Given the description of an element on the screen output the (x, y) to click on. 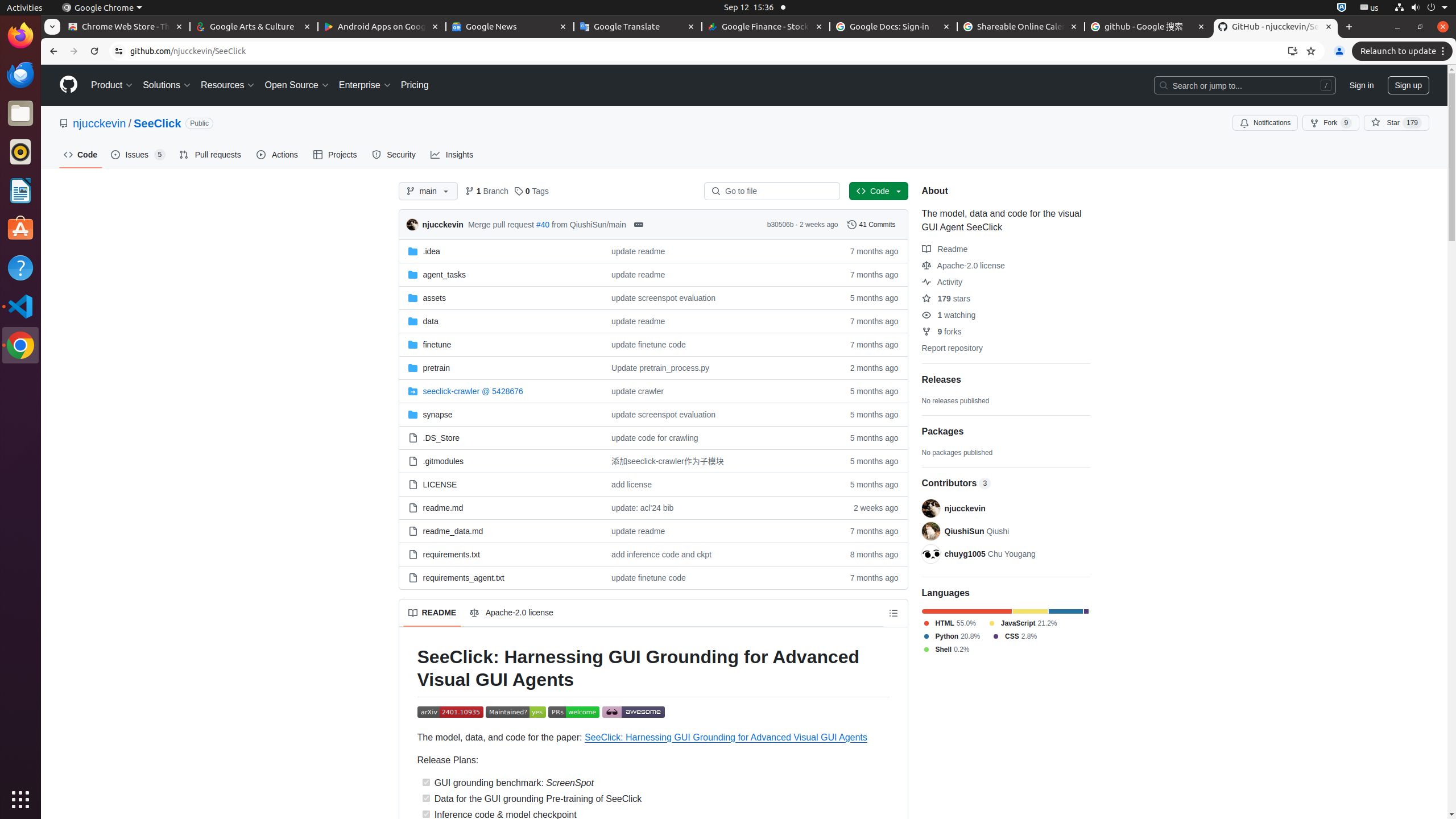
assets, (Directory) Element type: link (433, 297)
179 stars Element type: link (945, 298)
requirements.txt, (File) Element type: table-cell (500, 553)
.idea, (Directory) Element type: link (431, 250)
update finetune code Element type: link (648, 344)
